Given the description of an element on the screen output the (x, y) to click on. 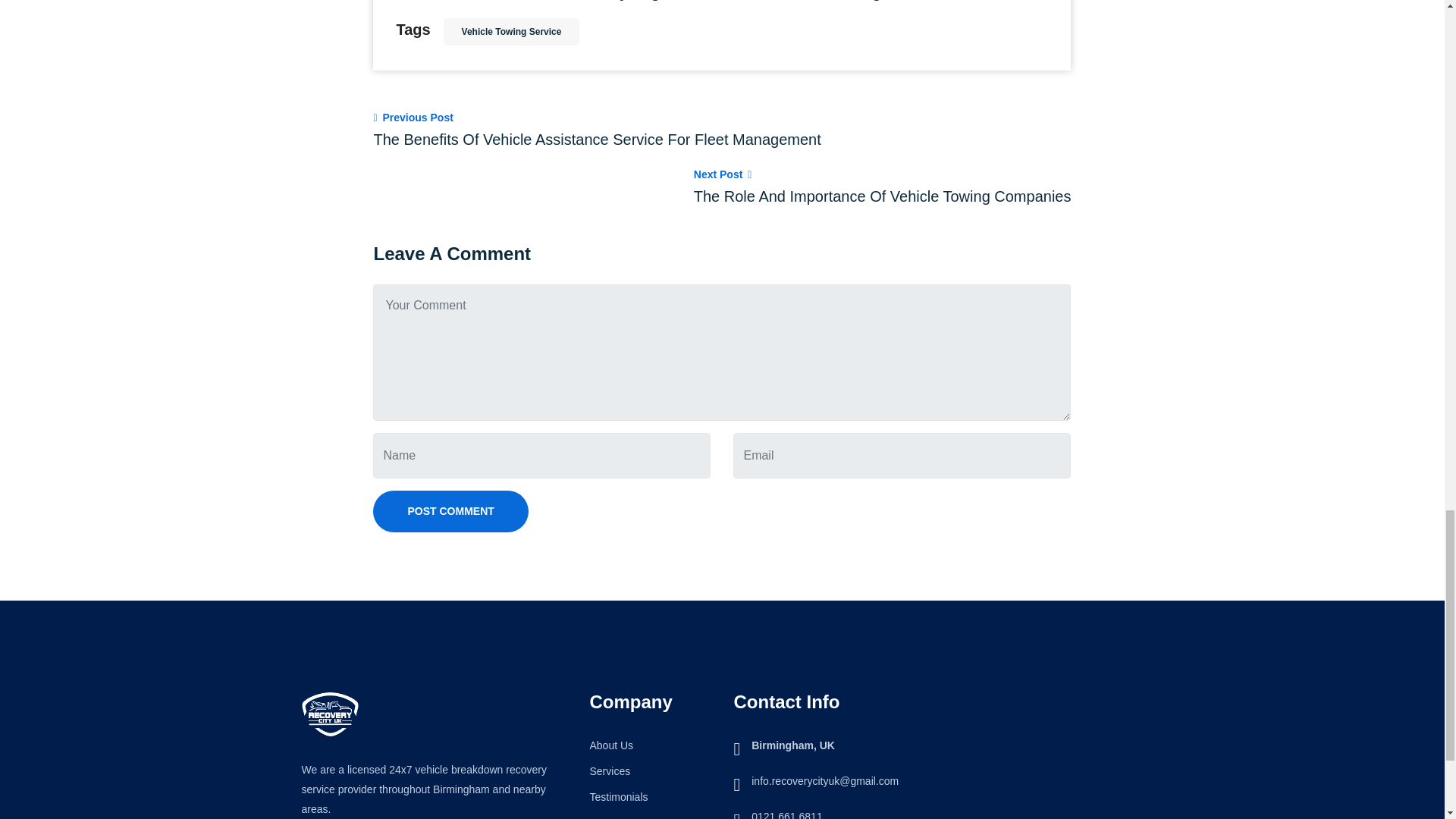
Testimonials (618, 797)
0121 661 6811 (786, 814)
POST COMMENT (449, 511)
About Us (611, 745)
Vehicle Towing Service (511, 31)
Services (609, 770)
